Given the description of an element on the screen output the (x, y) to click on. 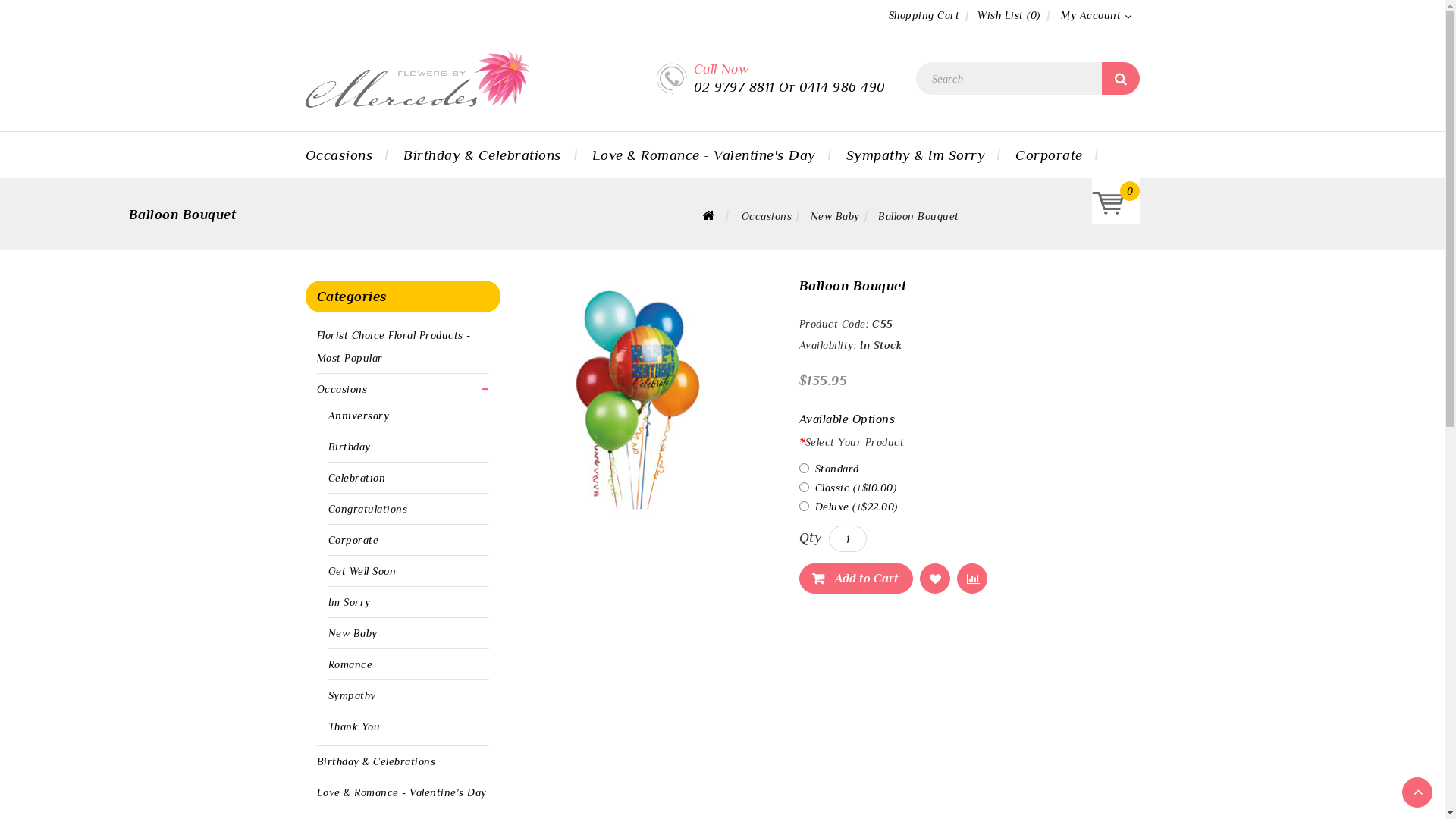
Balloon Bouquet Element type: hover (636, 399)
Florist Choice Floral Products - Most Popular Element type: text (393, 346)
Corporate Element type: text (352, 539)
Shopping Cart Element type: text (924, 15)
Corporate Element type: text (1049, 154)
TOP Element type: text (1417, 792)
Balloon Bouquet Element type: text (918, 216)
0 Element type: text (1110, 207)
Occasions Element type: text (346, 154)
Occasions Element type: text (341, 388)
Wish List (0) Element type: text (1008, 15)
Add to Cart Element type: text (856, 578)
New Baby Element type: text (834, 216)
Love & Romance - Valentine'S Day Element type: text (401, 792)
Anniversary Element type: text (358, 415)
Flowers By Mercedes Element type: hover (416, 78)
Love & Romance - Valentine'S Day Element type: text (703, 154)
Romance Element type: text (349, 664)
Birthday Element type: text (348, 446)
Birthday & Celebrations Element type: text (376, 761)
New Baby Element type: text (351, 633)
Sympathy & Im Sorry Element type: text (916, 154)
Occasions Element type: text (766, 216)
Sympathy Element type: text (351, 695)
Celebration Element type: text (356, 477)
Im Sorry Element type: text (348, 602)
Congratulations Element type: text (367, 508)
Birthday & Celebrations Element type: text (482, 154)
Get Well Soon Element type: text (361, 570)
Thank You Element type: text (353, 726)
